Given the description of an element on the screen output the (x, y) to click on. 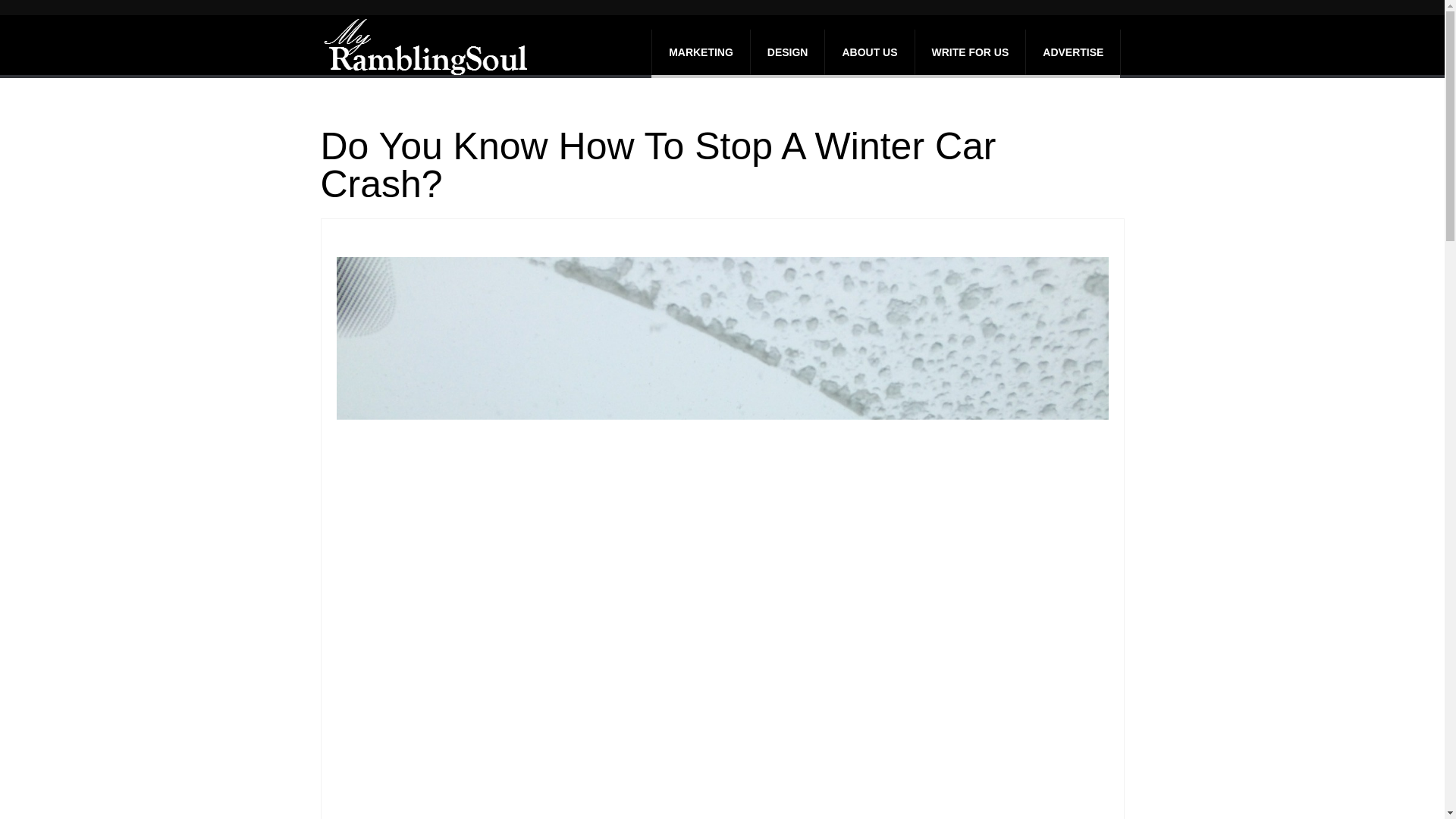
ADVERTISE (1072, 52)
ABOUT US (869, 52)
WRITE FOR US (969, 52)
MARKETING (700, 52)
DESIGN (788, 52)
